Given the description of an element on the screen output the (x, y) to click on. 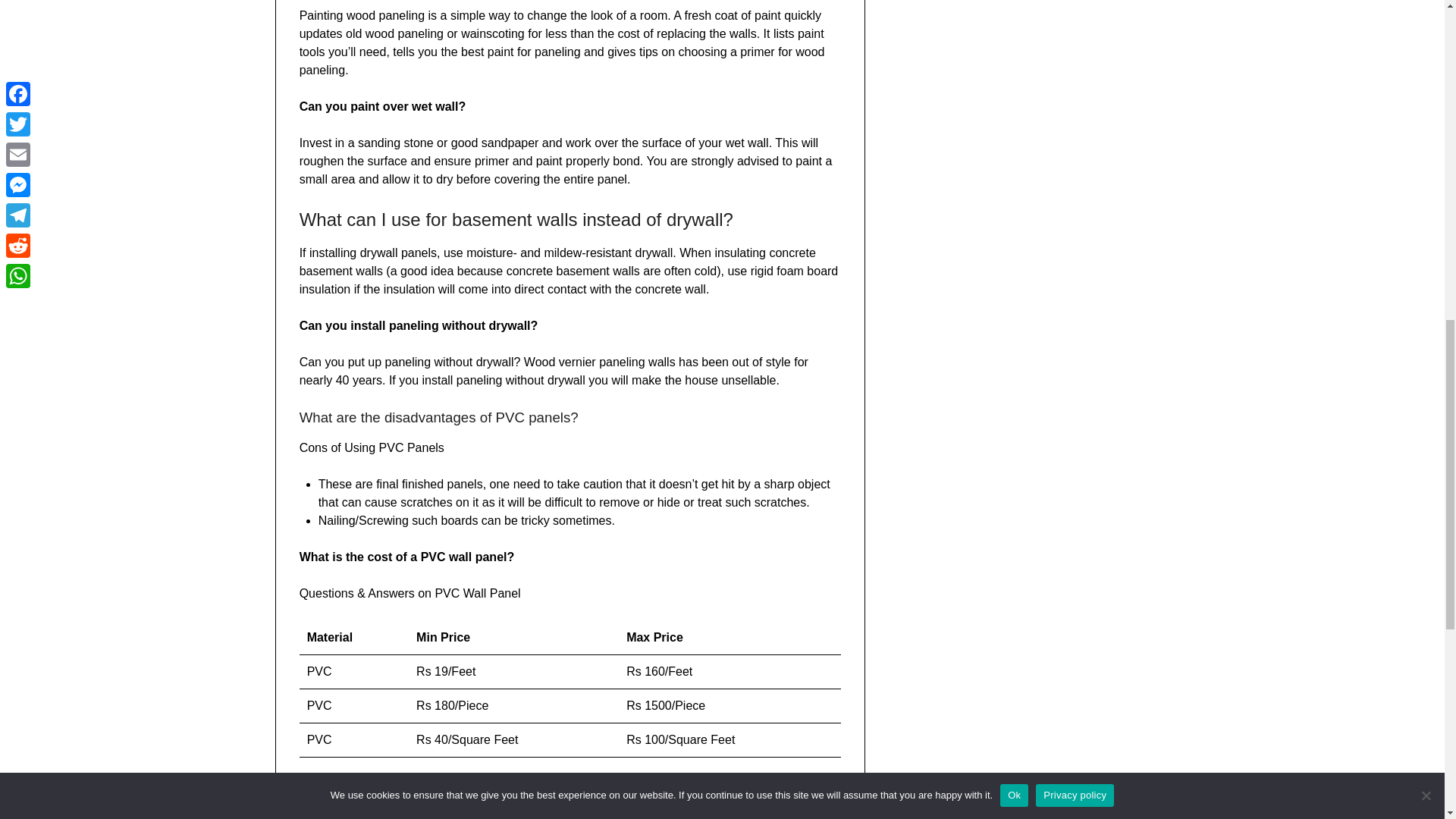
BrightWall Basement panels (541, 797)
